Given the description of an element on the screen output the (x, y) to click on. 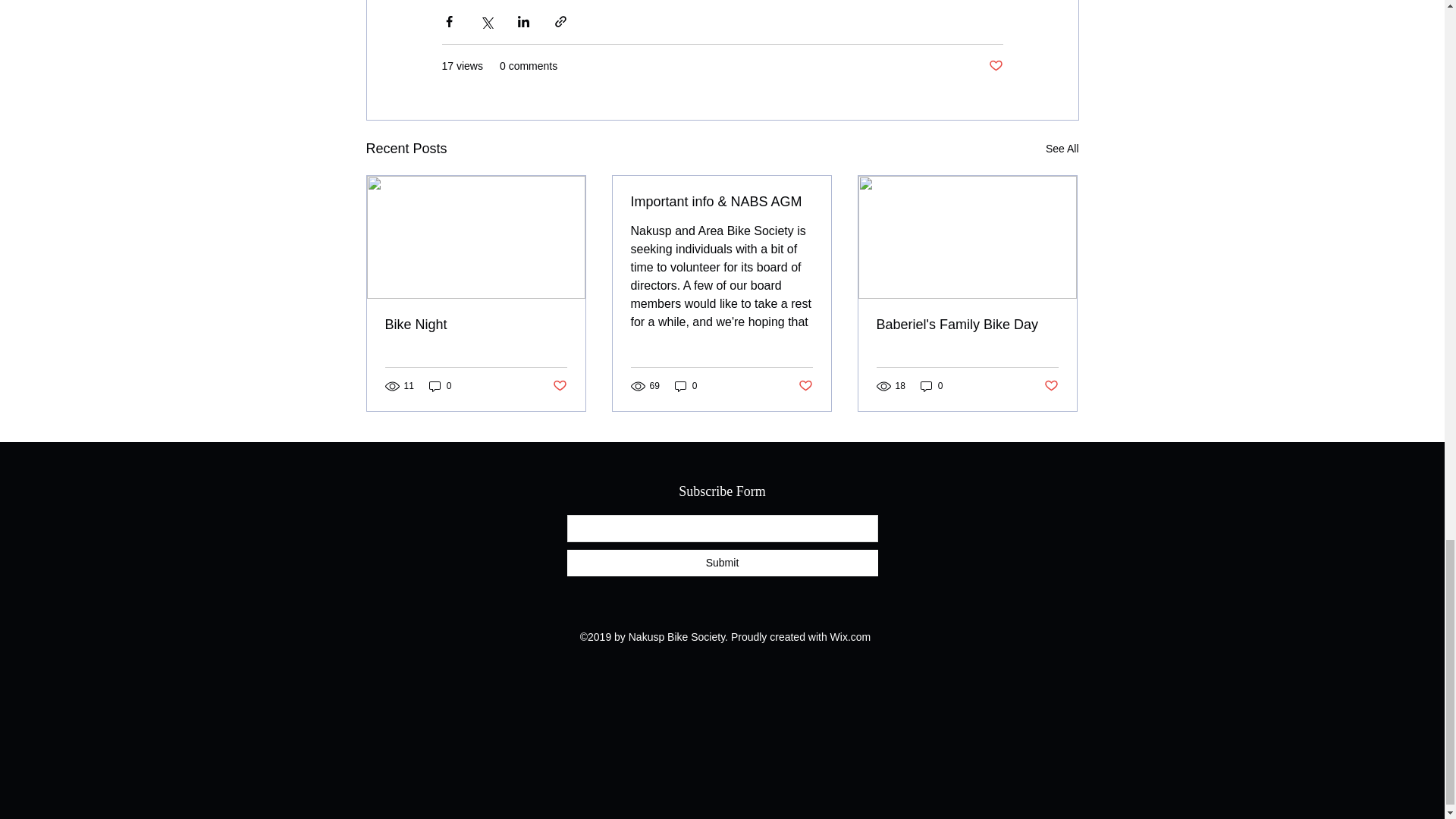
Post not marked as liked (995, 66)
See All (1061, 148)
Bike Night (476, 324)
Submit (722, 562)
0 (440, 386)
Post not marked as liked (804, 385)
Post not marked as liked (558, 385)
Baberiel's Family Bike Day (967, 324)
Post not marked as liked (1050, 385)
0 (685, 386)
0 (931, 386)
